Given the description of an element on the screen output the (x, y) to click on. 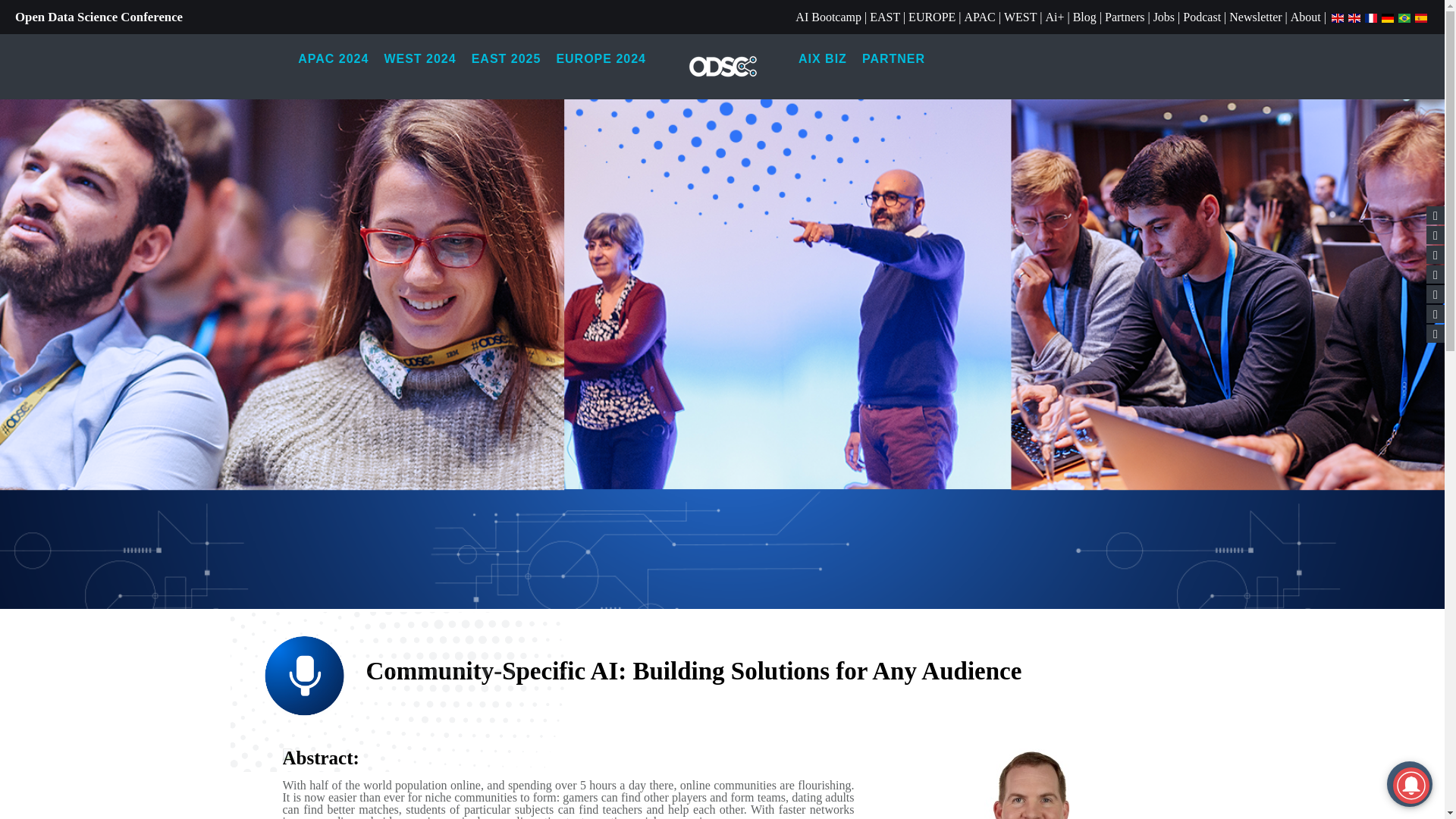
APAC 2024 (332, 59)
Blog (1084, 16)
Partners (1124, 16)
About (1305, 16)
French (1370, 16)
Blog (1084, 16)
Partners (1124, 16)
WEST (1020, 16)
EAST (884, 16)
WEST (1020, 16)
